Given the description of an element on the screen output the (x, y) to click on. 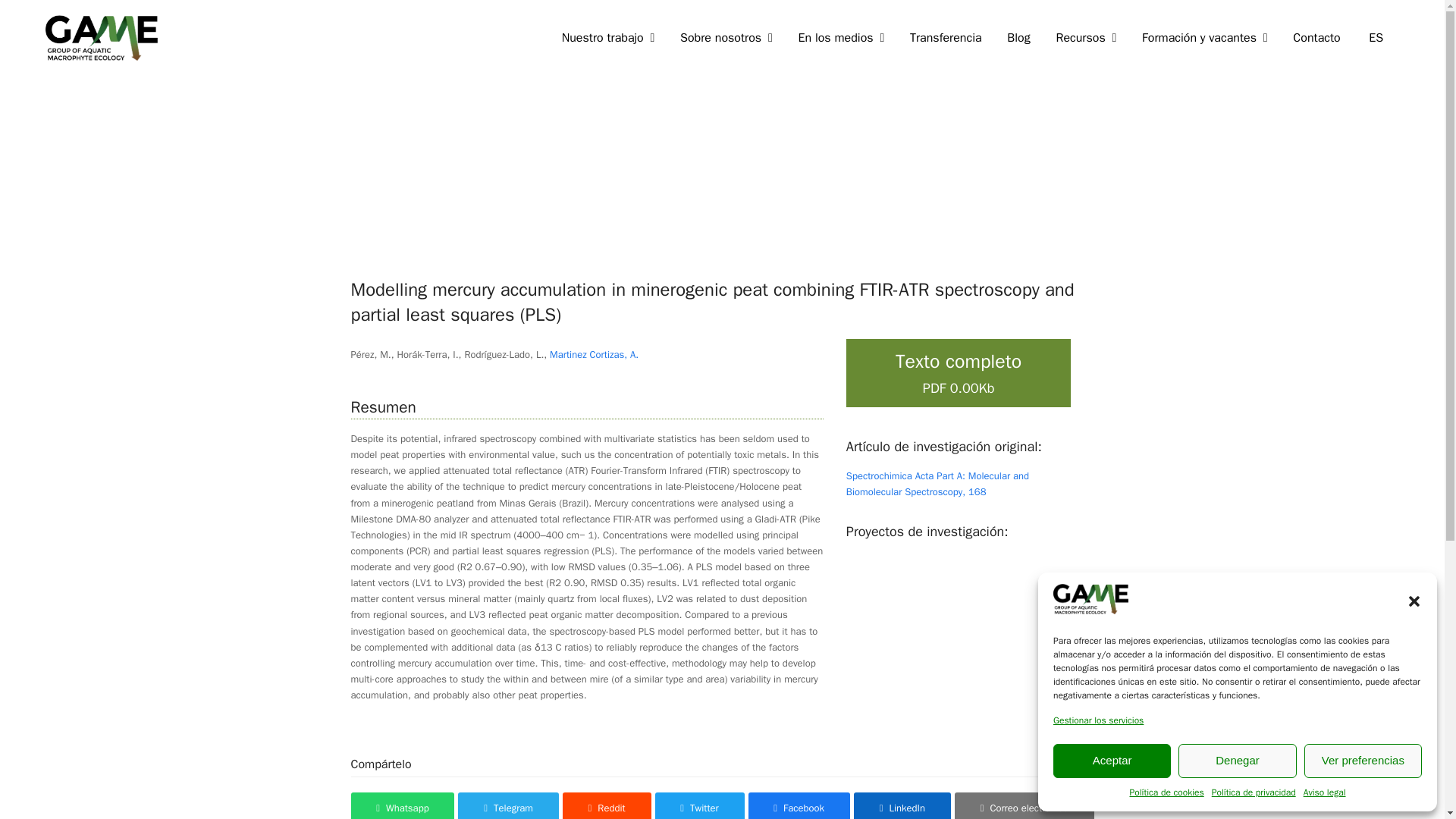
Aceptar (1111, 759)
Sobre nosotros (725, 38)
ES (1376, 38)
Gestionar los servicios (1097, 720)
Blog (1018, 38)
Aviso legal (1324, 792)
Contacto (1315, 38)
Nuestro trabajo (607, 38)
Transferencia (945, 38)
Denegar (1236, 759)
Spanish (1376, 38)
En los medios (841, 38)
Ver preferencias (1363, 759)
Recursos (1086, 38)
